Given the description of an element on the screen output the (x, y) to click on. 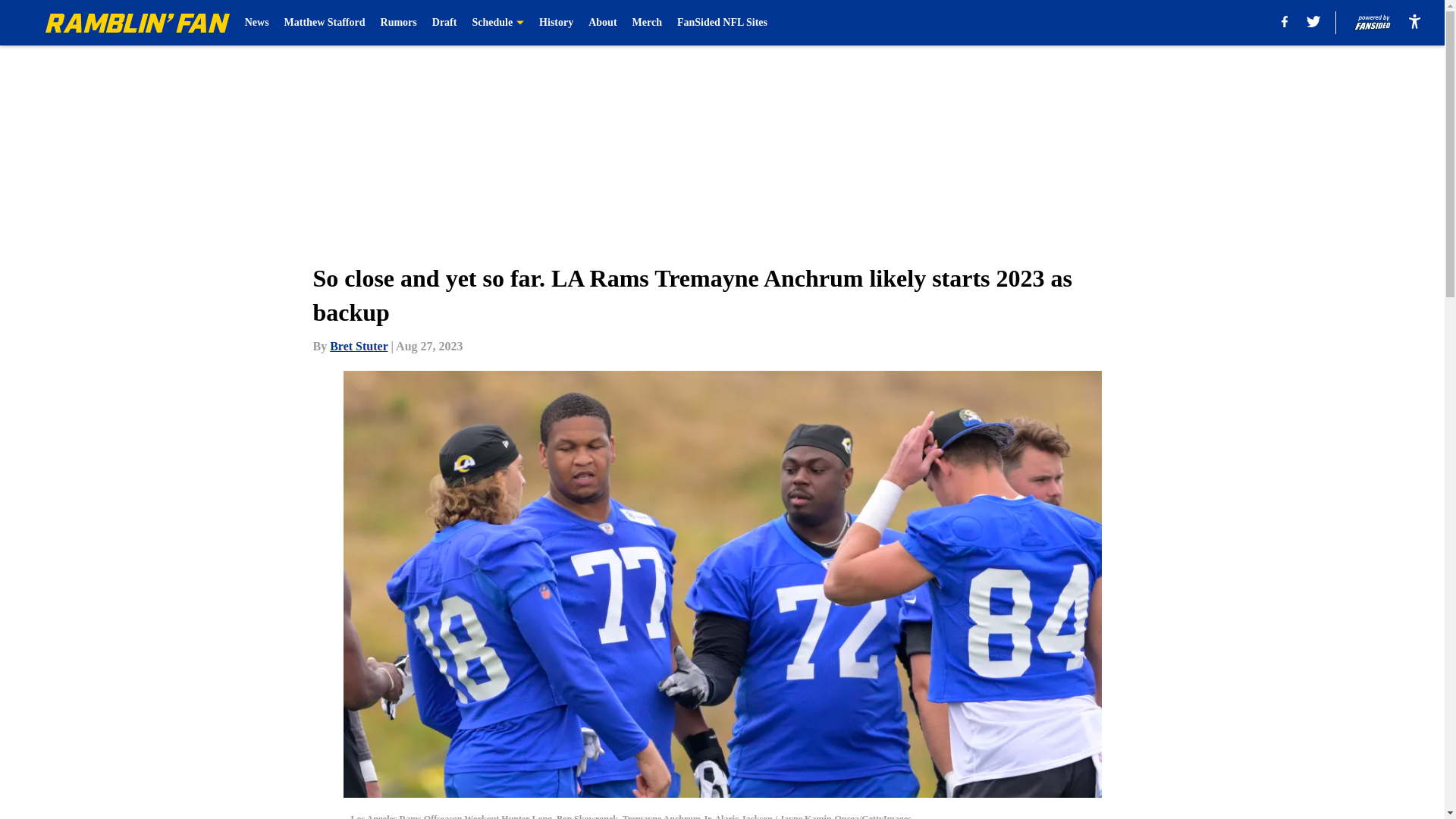
Merch (646, 22)
News (256, 22)
Matthew Stafford (324, 22)
History (555, 22)
Rumors (398, 22)
FanSided NFL Sites (722, 22)
Bret Stuter (358, 345)
Draft (444, 22)
About (601, 22)
